Given the description of an element on the screen output the (x, y) to click on. 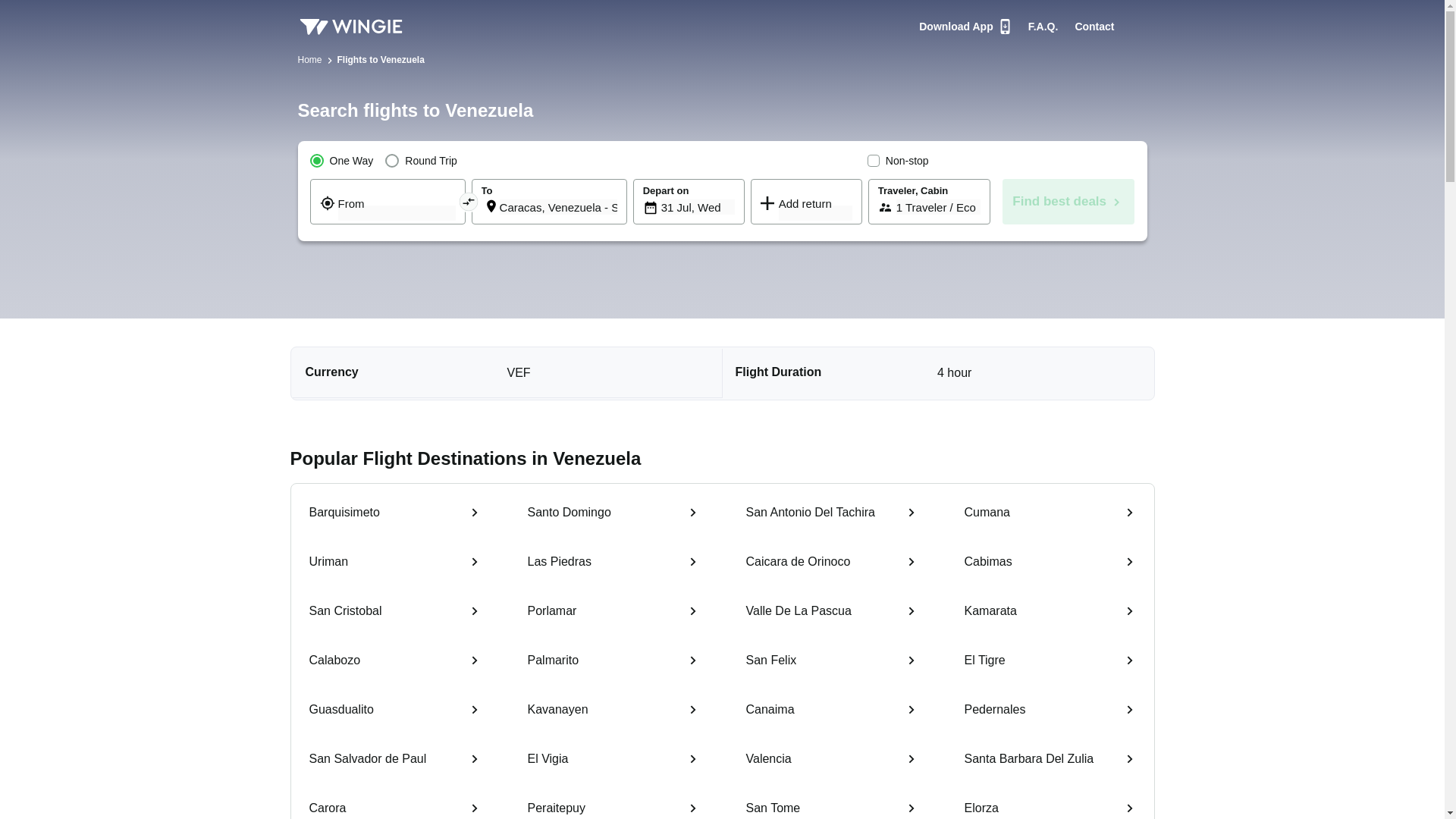
flights to Cabimas (1050, 563)
Download App (965, 25)
Elorza (1050, 805)
Canaima (831, 711)
flights to Las Piedras (613, 563)
F.A.Q. (1043, 25)
San Cristobal (395, 613)
Santo Domingo (613, 514)
Kamarata (1050, 613)
Porlamar (613, 613)
